Given the description of an element on the screen output the (x, y) to click on. 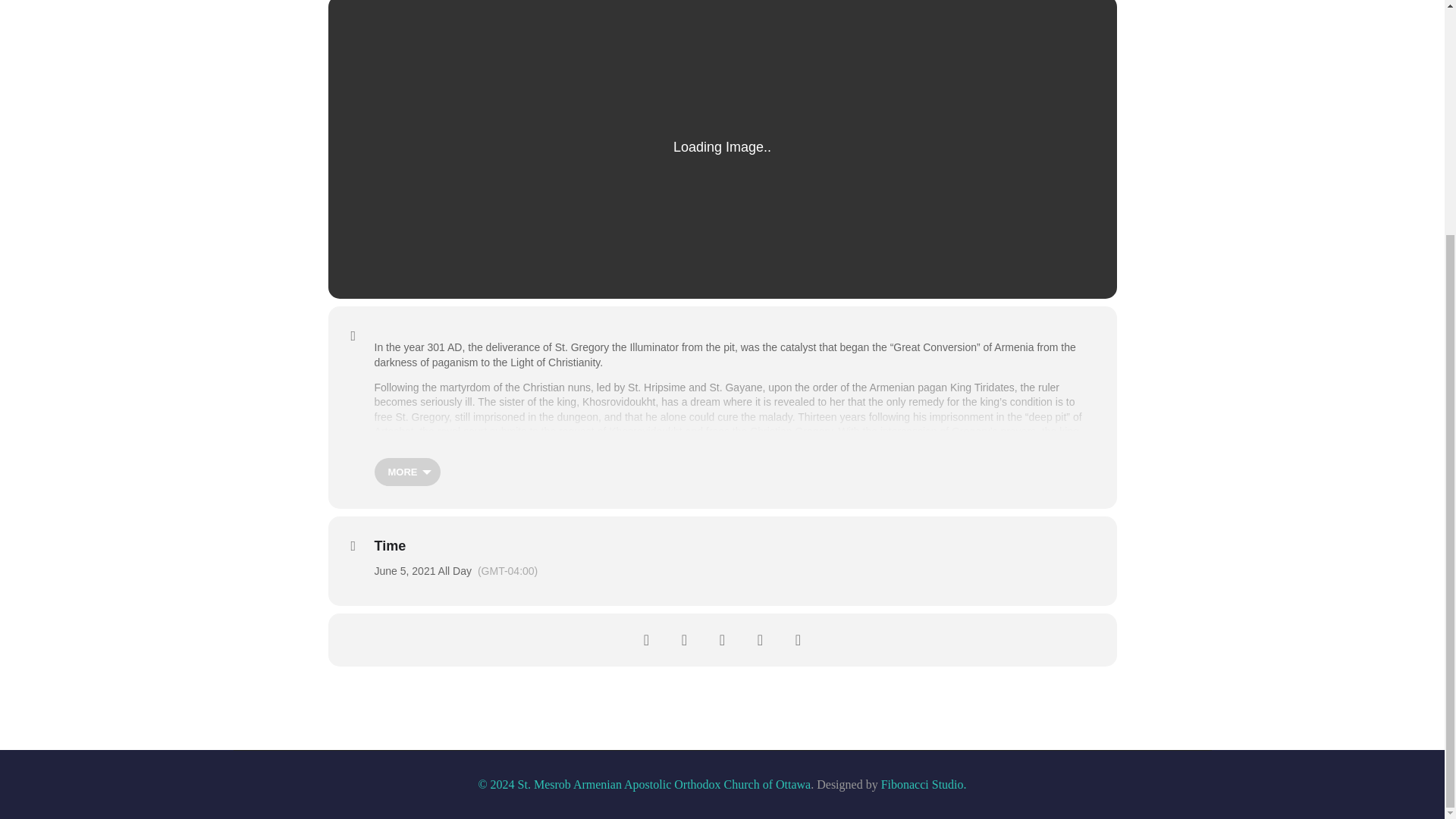
Share on Linkedin (722, 639)
Share on facebook (646, 639)
Share on Twitter (684, 639)
Share on Pinterest (759, 639)
